Given the description of an element on the screen output the (x, y) to click on. 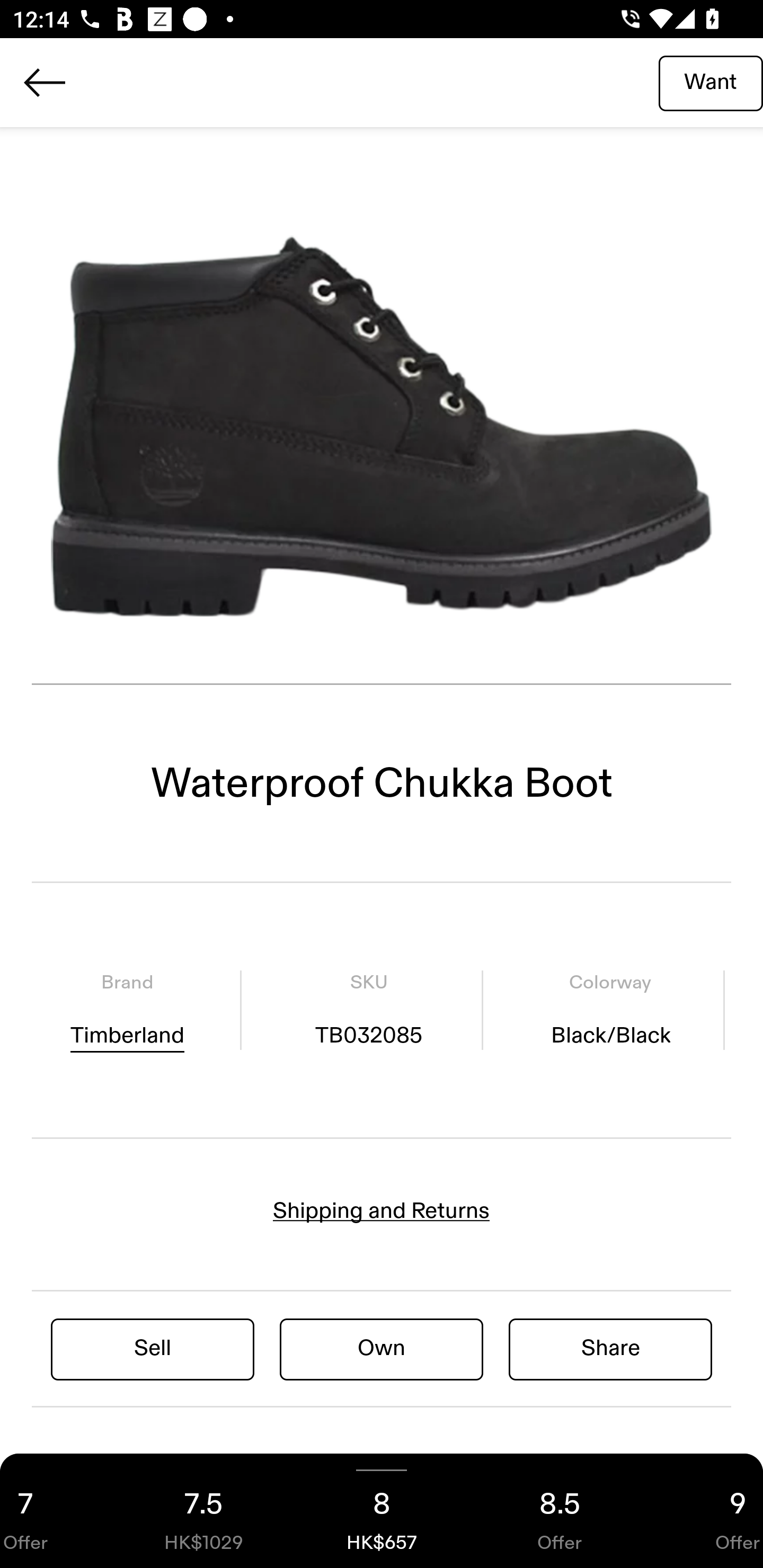
Want (710, 82)
Brand Timberland (126, 1009)
SKU TB032085 (368, 1009)
Colorway Black/Black (609, 1009)
Shipping and Returns (381, 1211)
Sell (152, 1348)
Own (381, 1348)
Share (609, 1348)
7 Offer (57, 1510)
7.5 HK$1029 (203, 1510)
8 HK$657 (381, 1510)
8.5 Offer (559, 1510)
9 Offer (705, 1510)
